Given the description of an element on the screen output the (x, y) to click on. 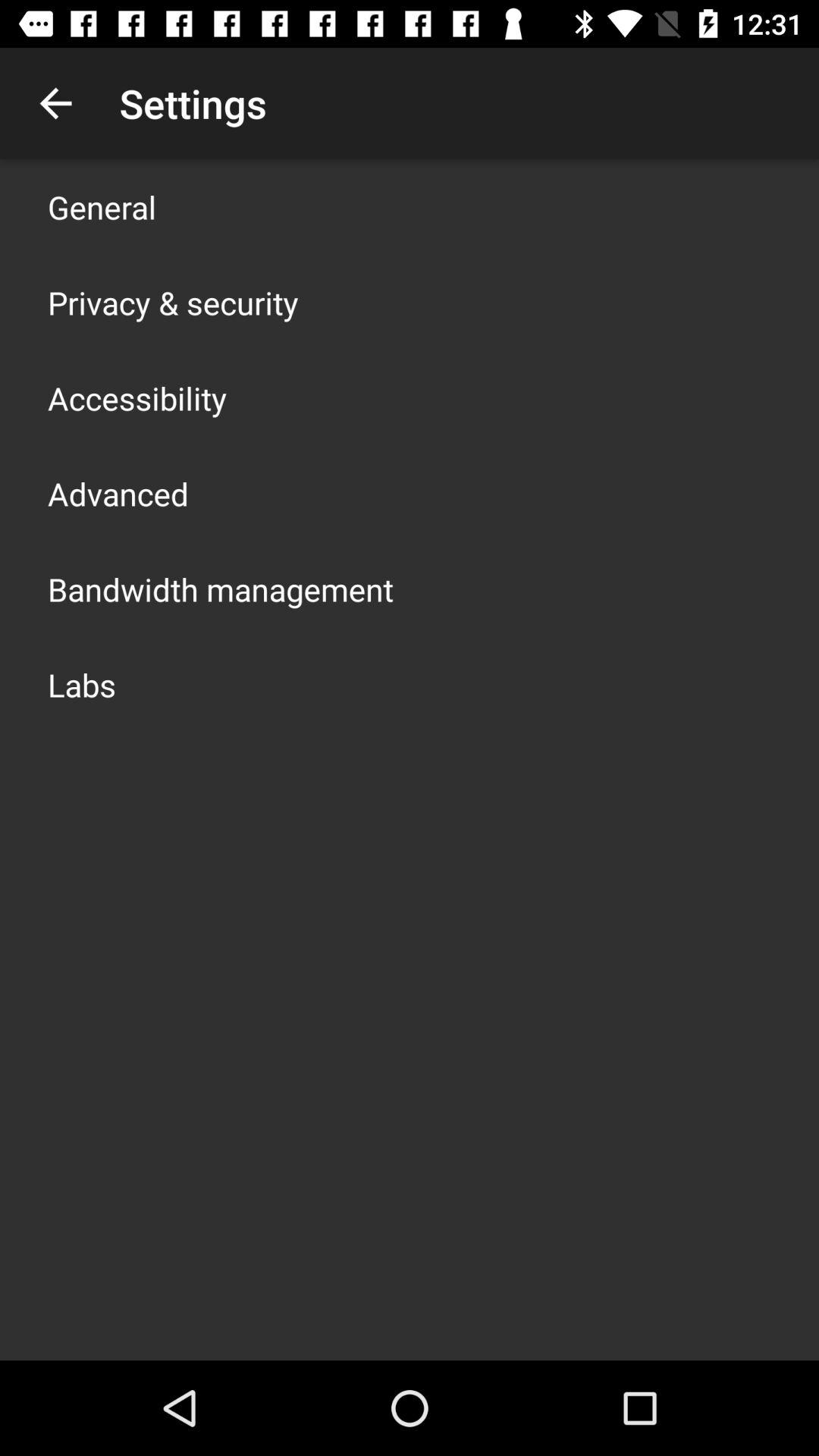
click the item above accessibility app (172, 302)
